Given the description of an element on the screen output the (x, y) to click on. 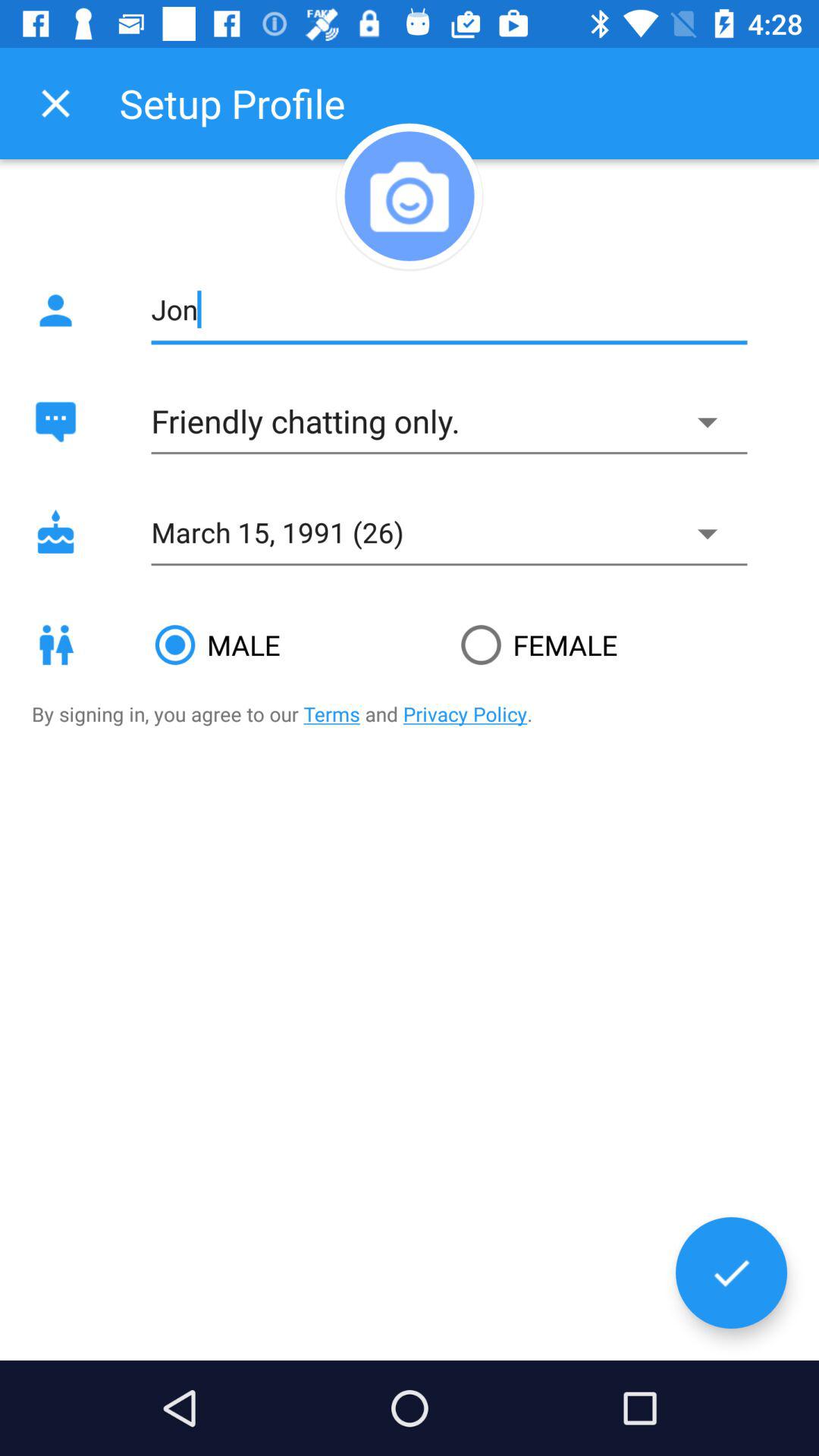
validation button (731, 1272)
